Given the description of an element on the screen output the (x, y) to click on. 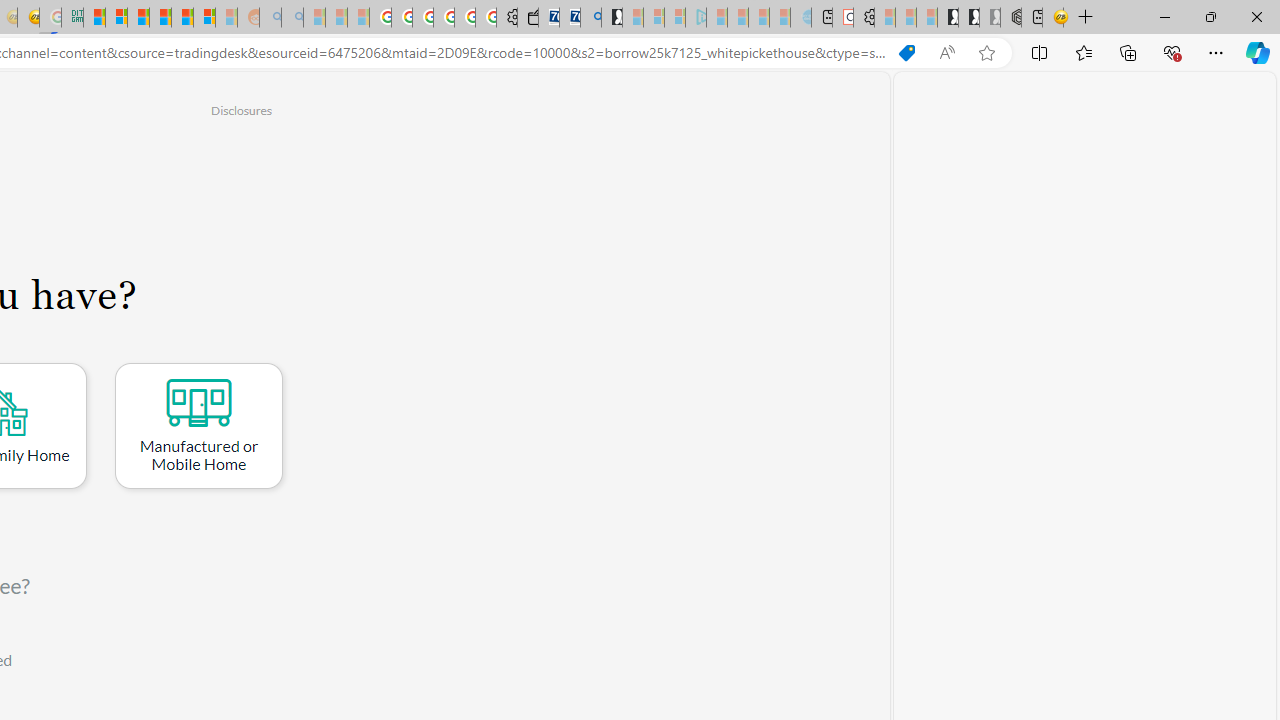
Kinda Frugal - MSN (182, 17)
